Given the description of an element on the screen output the (x, y) to click on. 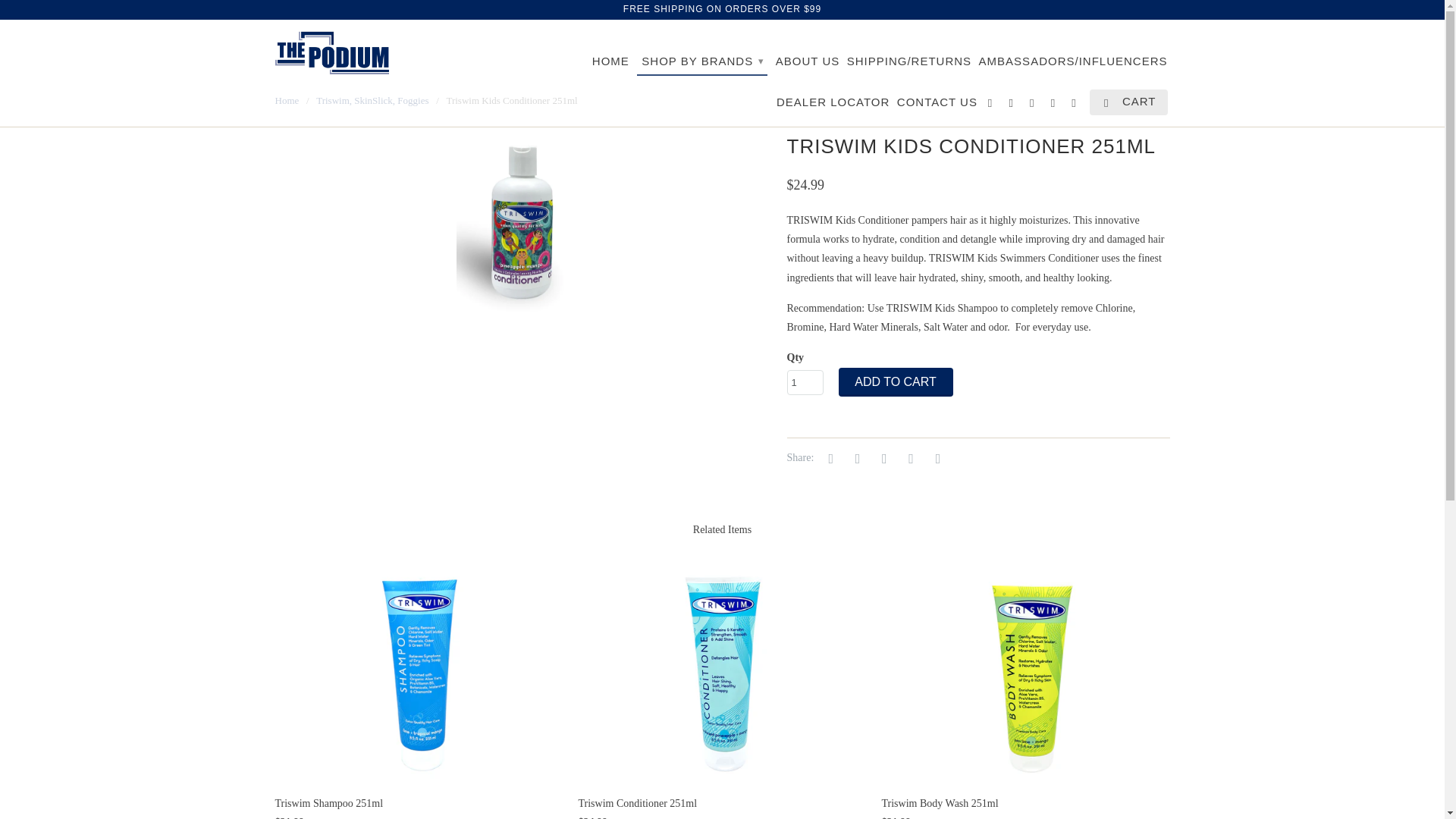
Email this to a friend (935, 458)
1 (805, 382)
Triswim Kids Conditioner 251ml (523, 223)
Share this on Pinterest (881, 458)
Triswim, SkinSlick, Foggies (371, 100)
Share this on Twitter (828, 458)
Share this on Facebook (855, 458)
The Podium (286, 100)
